Given the description of an element on the screen output the (x, y) to click on. 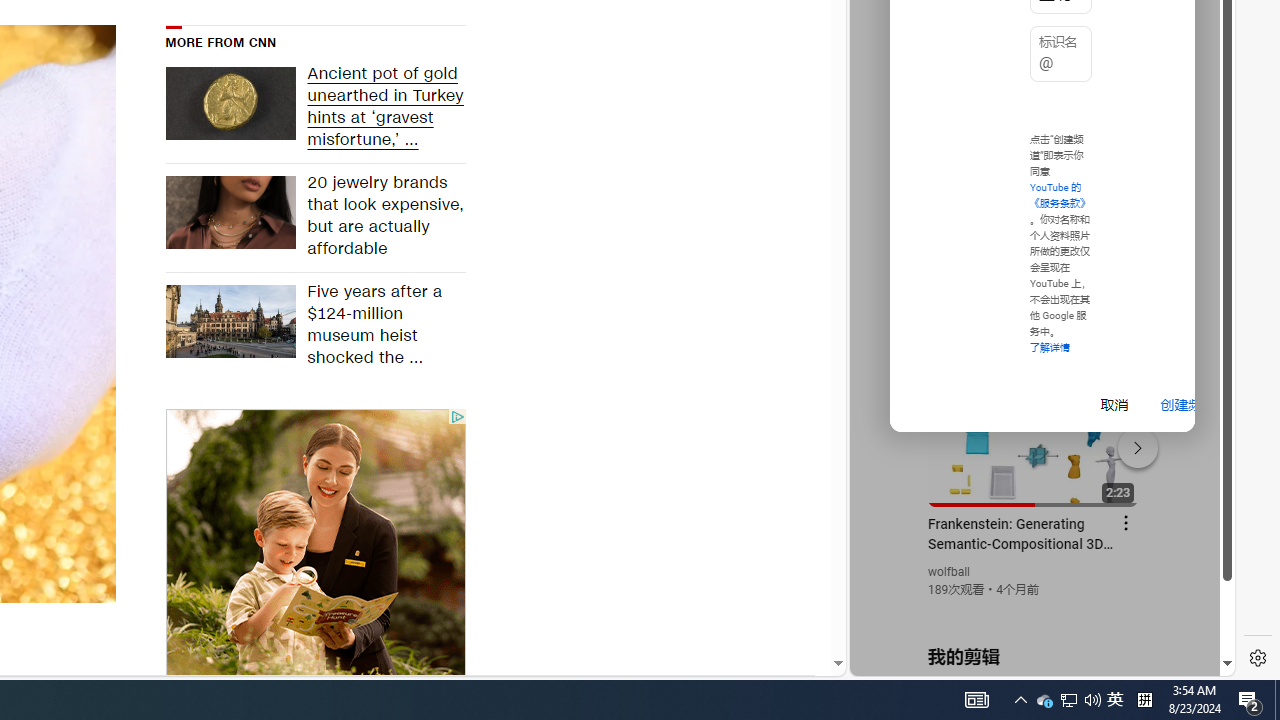
Five years after a $124-million museum heist shocked the ... (379, 326)
YouTube - YouTube (1034, 266)
AutomationID: sa-adchoices (456, 417)
Class: dict_pnIcon rms_img (1028, 660)
